Given the description of an element on the screen output the (x, y) to click on. 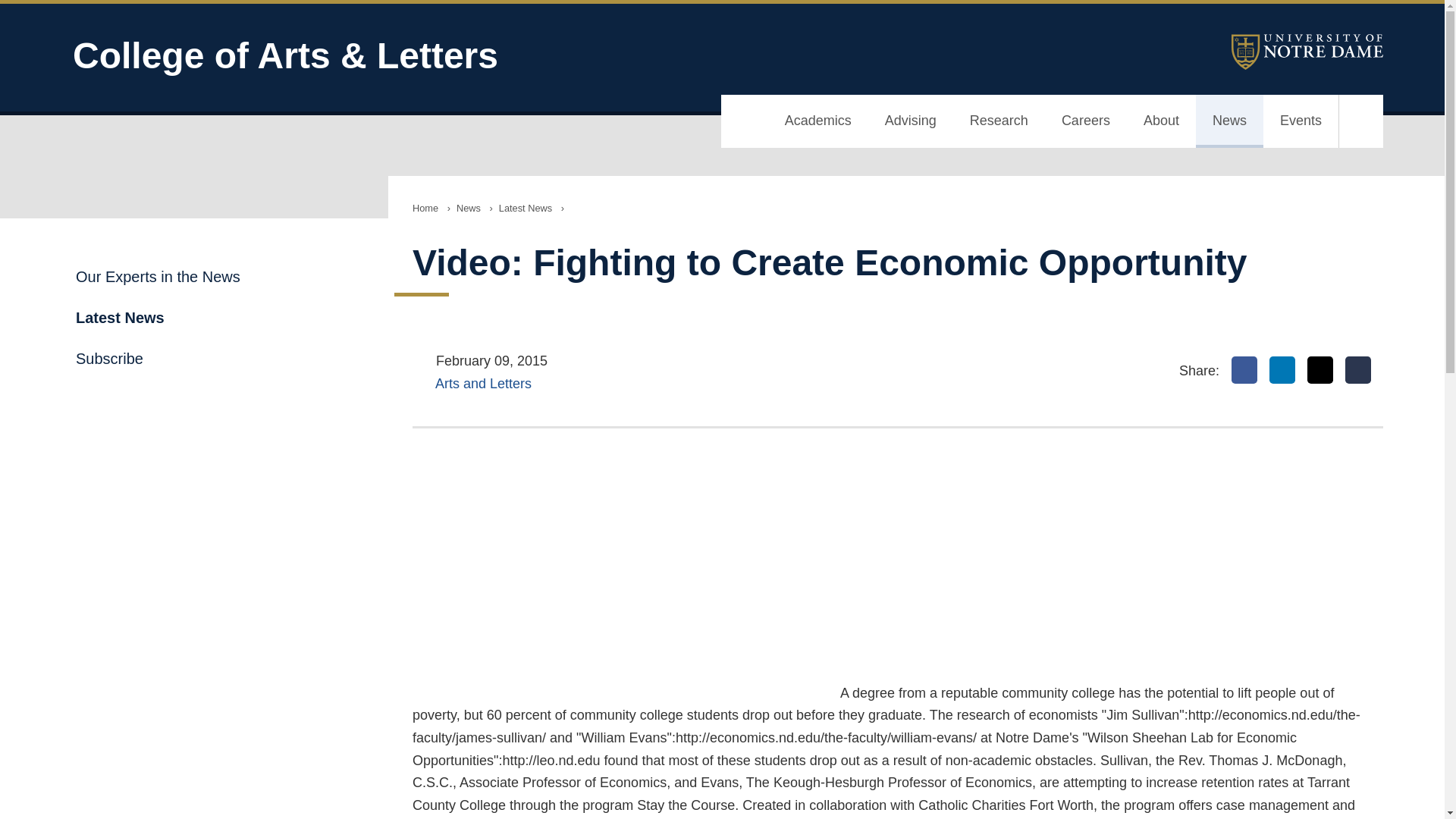
Events (1300, 121)
News (467, 207)
Research (999, 121)
Facebook (1244, 370)
About (1160, 121)
Advising (910, 121)
Arts and Letters (483, 383)
LinkedIn (1282, 370)
Academics (817, 121)
Email (1358, 370)
News (1229, 121)
Careers (1085, 121)
Home (425, 207)
University of Notre Dame (1307, 51)
Latest News (525, 207)
